Given the description of an element on the screen output the (x, y) to click on. 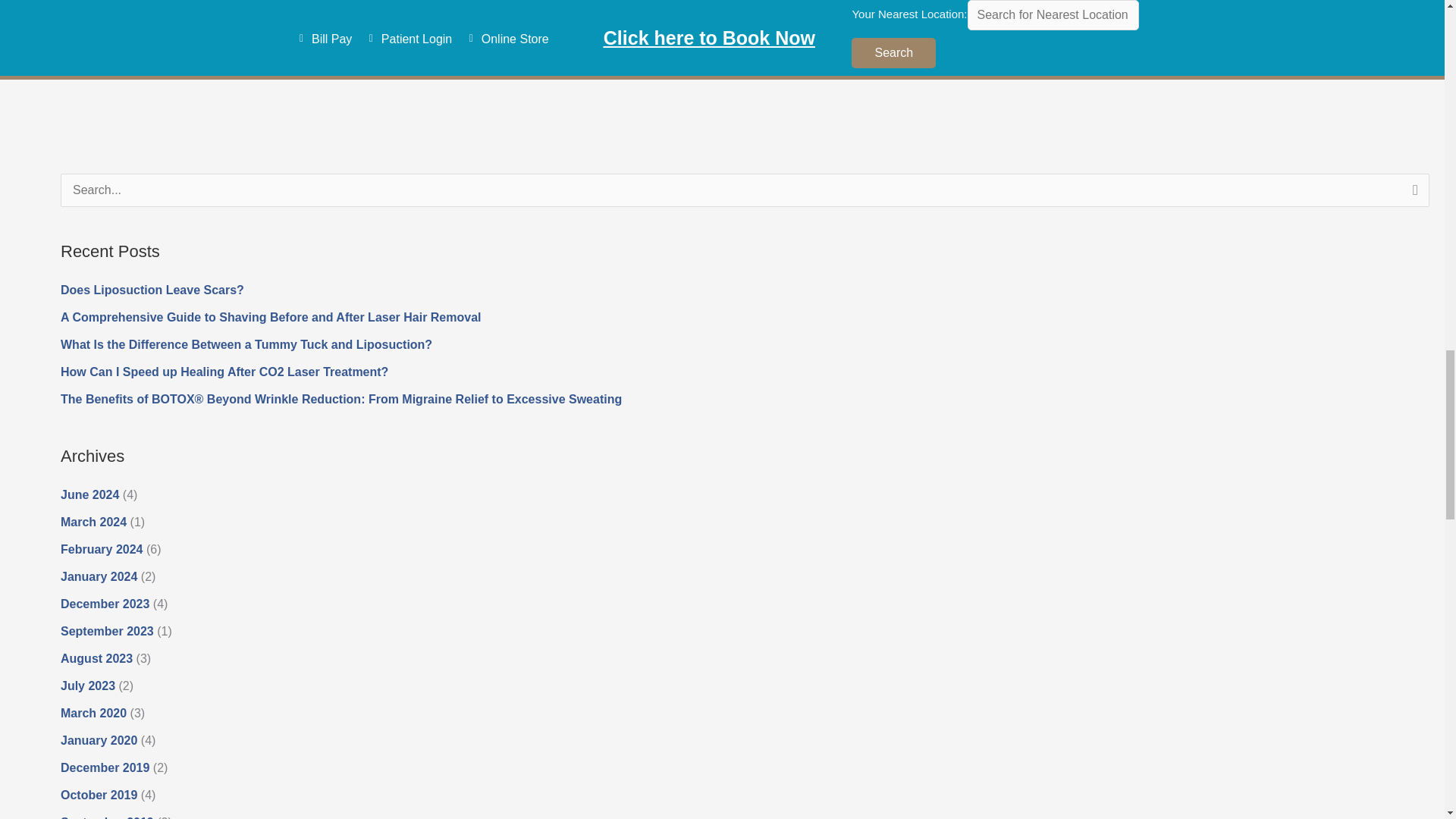
Can You Eat Your Way To Good Skin Health? (64, 60)
Dermatology vs. Skin Treatment In San Francisco (1392, 60)
